Given the description of an element on the screen output the (x, y) to click on. 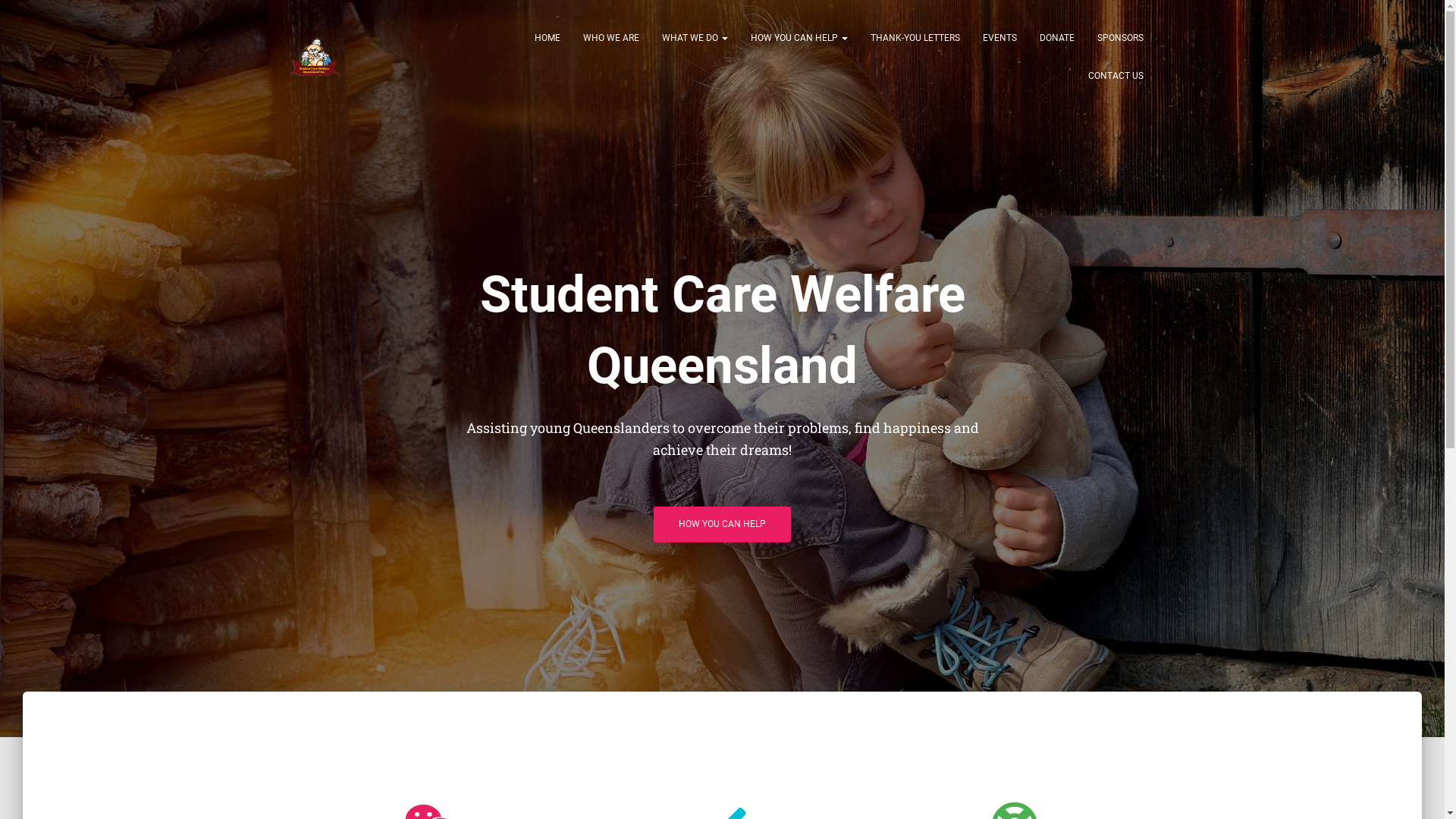
EVENTS Element type: text (998, 37)
WHAT WE DO Element type: text (694, 37)
HOW YOU CAN HELP Element type: text (798, 37)
DONATE Element type: text (1056, 37)
HOW YOU CAN HELP Element type: text (721, 524)
Student Care Welfare Qld Inc. Element type: hover (315, 56)
HOME Element type: text (547, 37)
CONTACT US Element type: text (1115, 75)
SPONSORS Element type: text (1119, 37)
WHO WE ARE Element type: text (610, 37)
THANK-YOU LETTERS Element type: text (914, 37)
